Given the description of an element on the screen output the (x, y) to click on. 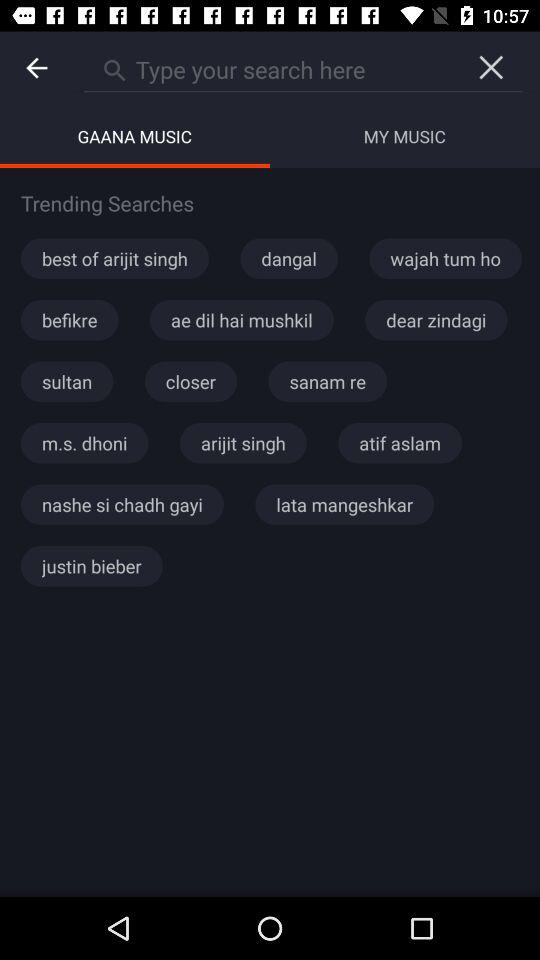
open the dear zindagi icon (436, 320)
